Given the description of an element on the screen output the (x, y) to click on. 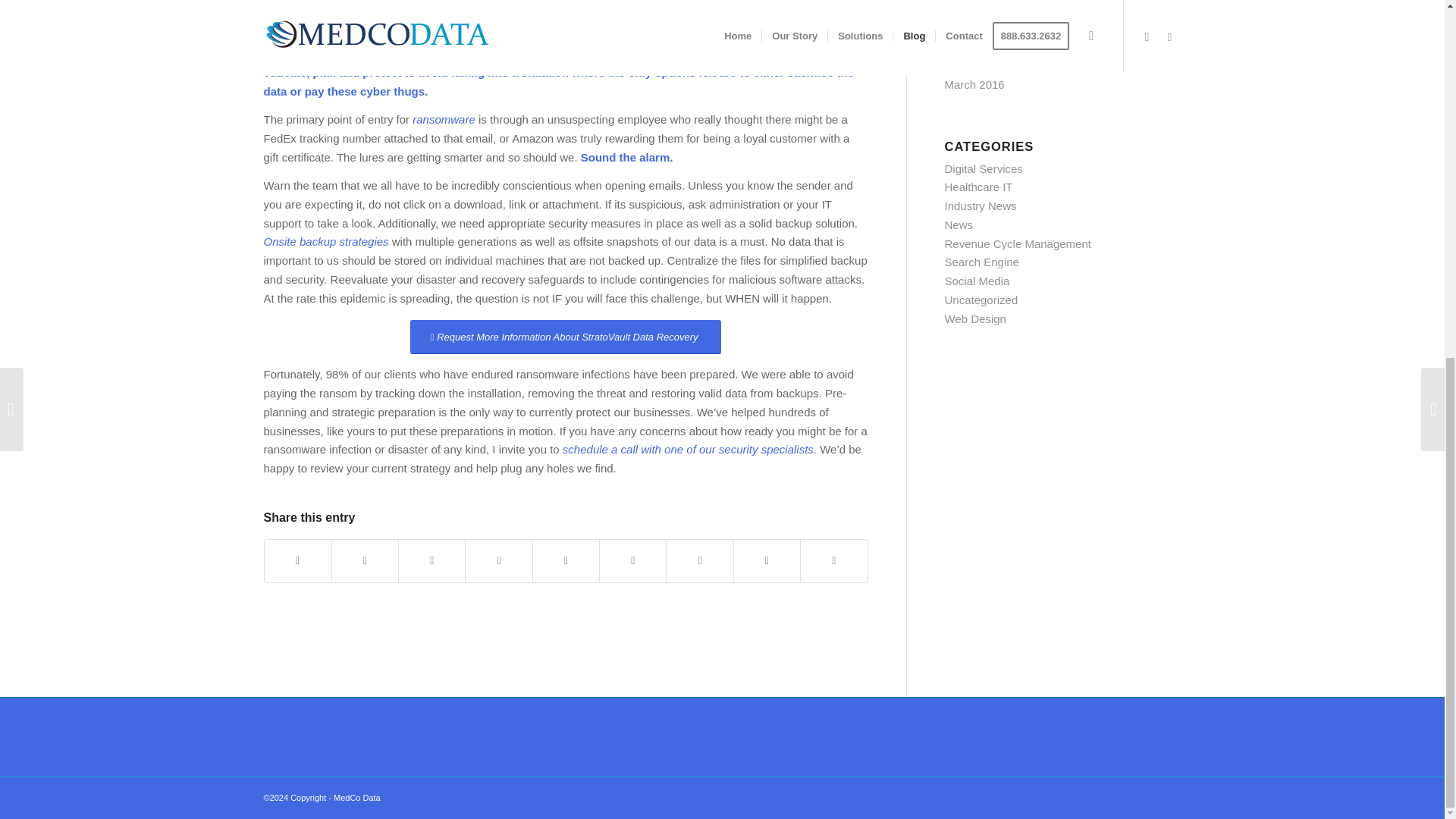
ransomware (444, 119)
Onsite backup strategies (325, 241)
Request More Information About StratoVault Data Recovery (565, 336)
virus and ransomware attacks (724, 2)
schedule a call with one of our security specialists (687, 449)
